Given the description of an element on the screen output the (x, y) to click on. 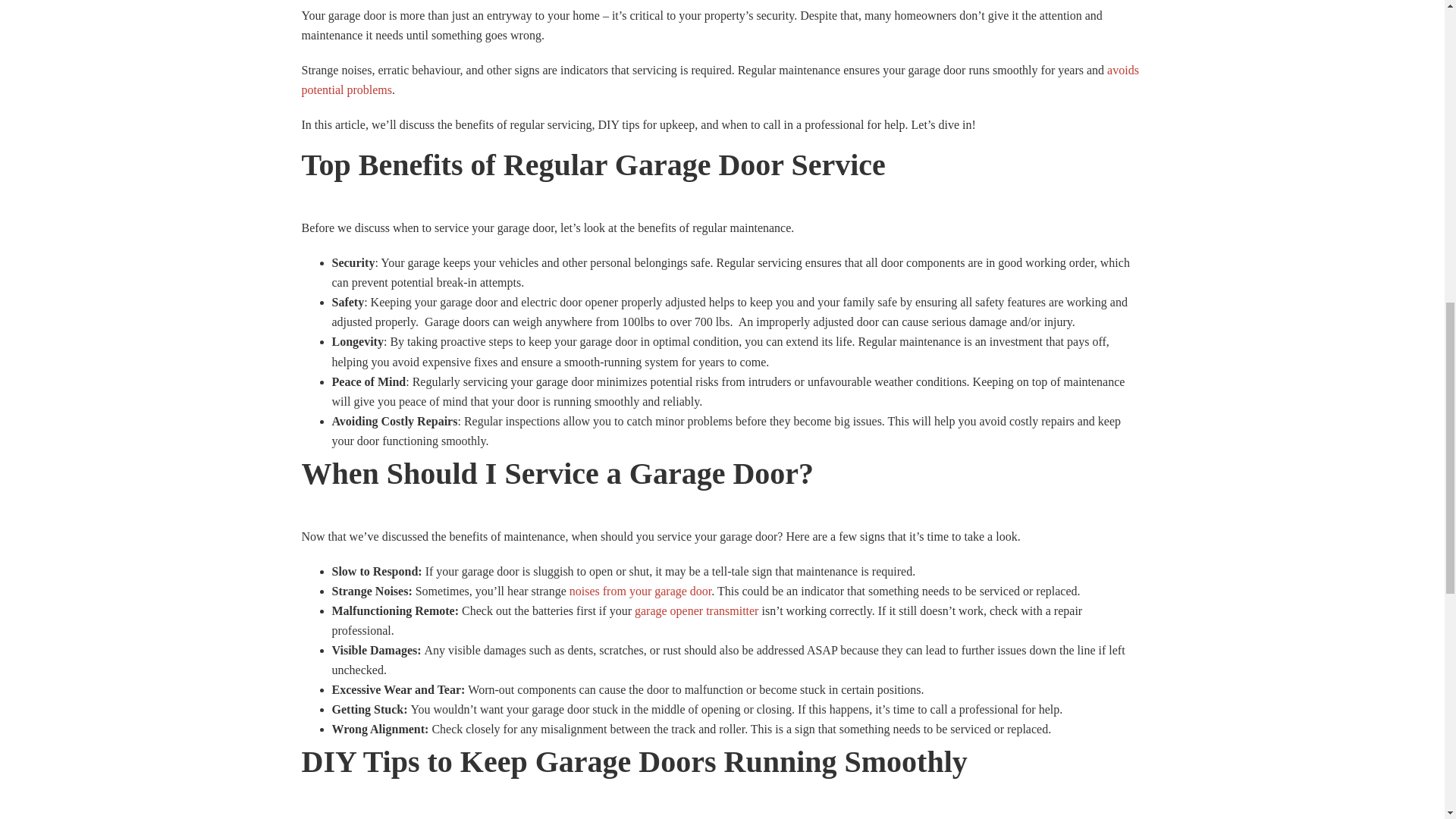
noises from your garage door (640, 590)
garage opener transmitter (696, 610)
avoids potential problems (719, 79)
